Given the description of an element on the screen output the (x, y) to click on. 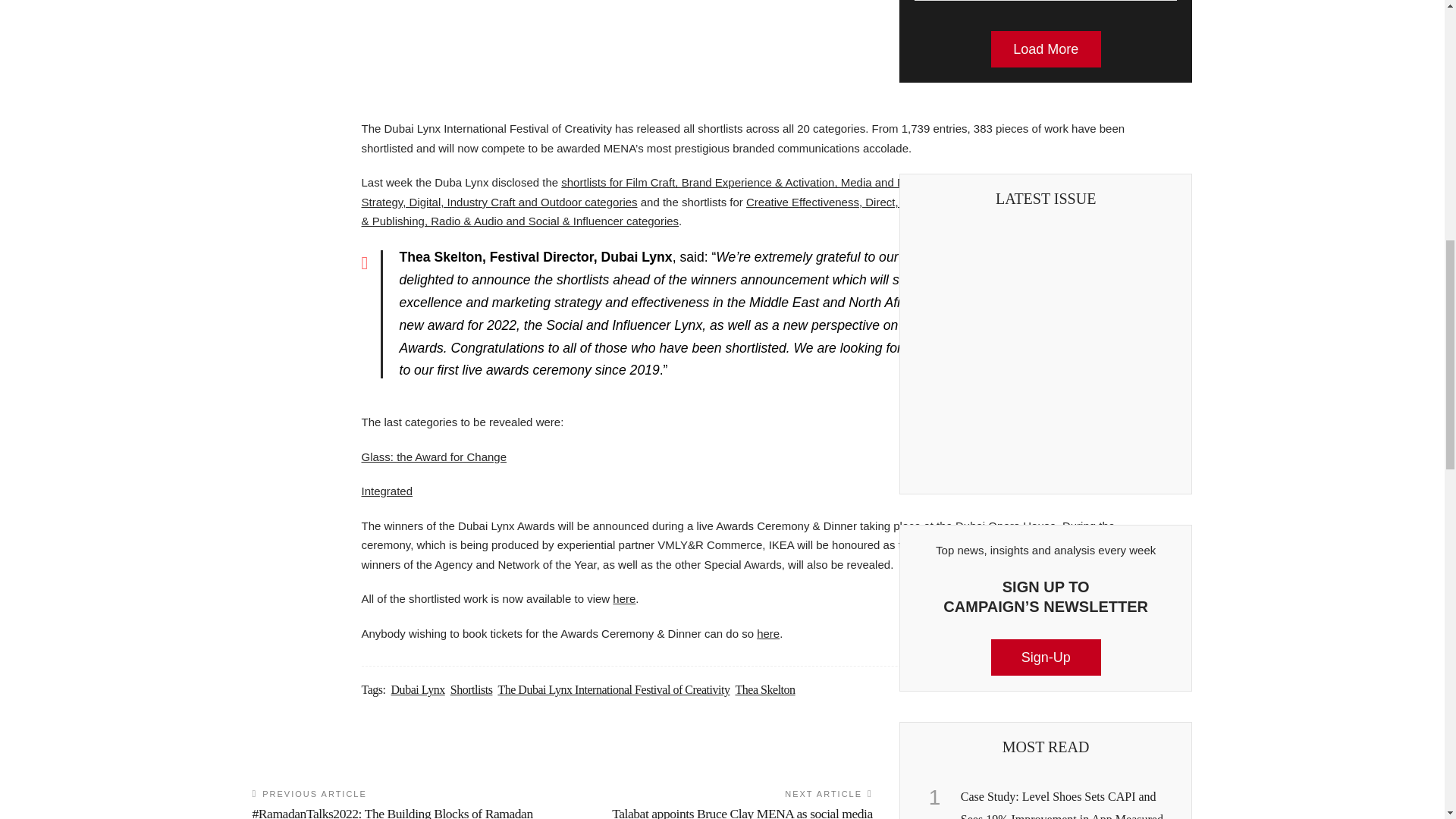
Thea Skelton (764, 689)
Shortlists (471, 689)
The Dubai Lynx International Festival of Creativity (613, 689)
Dubai Lynx (418, 689)
